Given the description of an element on the screen output the (x, y) to click on. 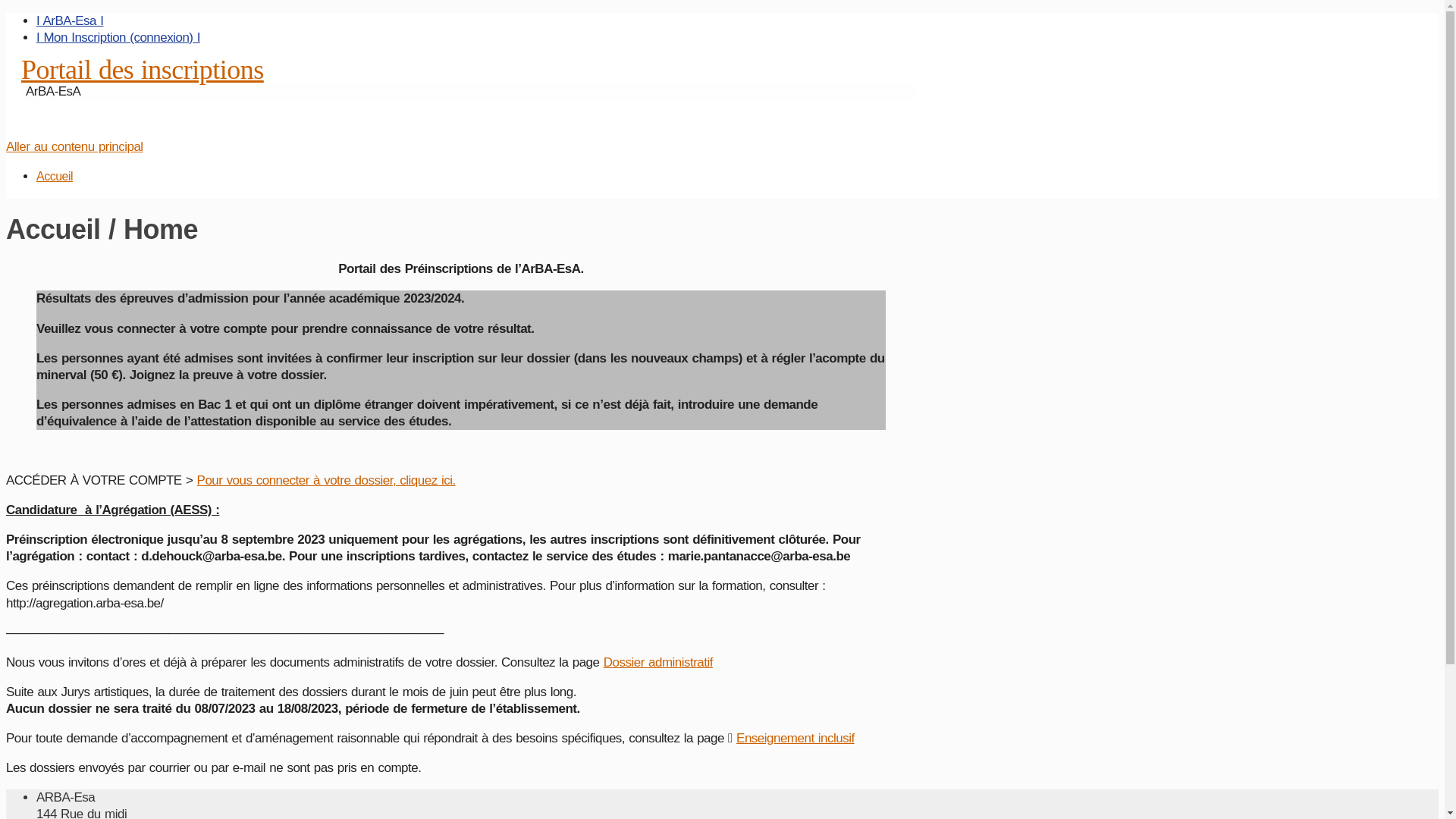
Accueil Element type: text (54, 175)
Aller au contenu principal Element type: text (74, 146)
Enseignement inclusif Element type: text (795, 738)
  Element type: text (7, 129)
I Mon Inscription (connexion) I Element type: text (118, 37)
Portail des inscriptions Element type: text (142, 69)
Dossier administratif Element type: text (657, 662)
I ArBA-Esa I Element type: text (69, 20)
